Given the description of an element on the screen output the (x, y) to click on. 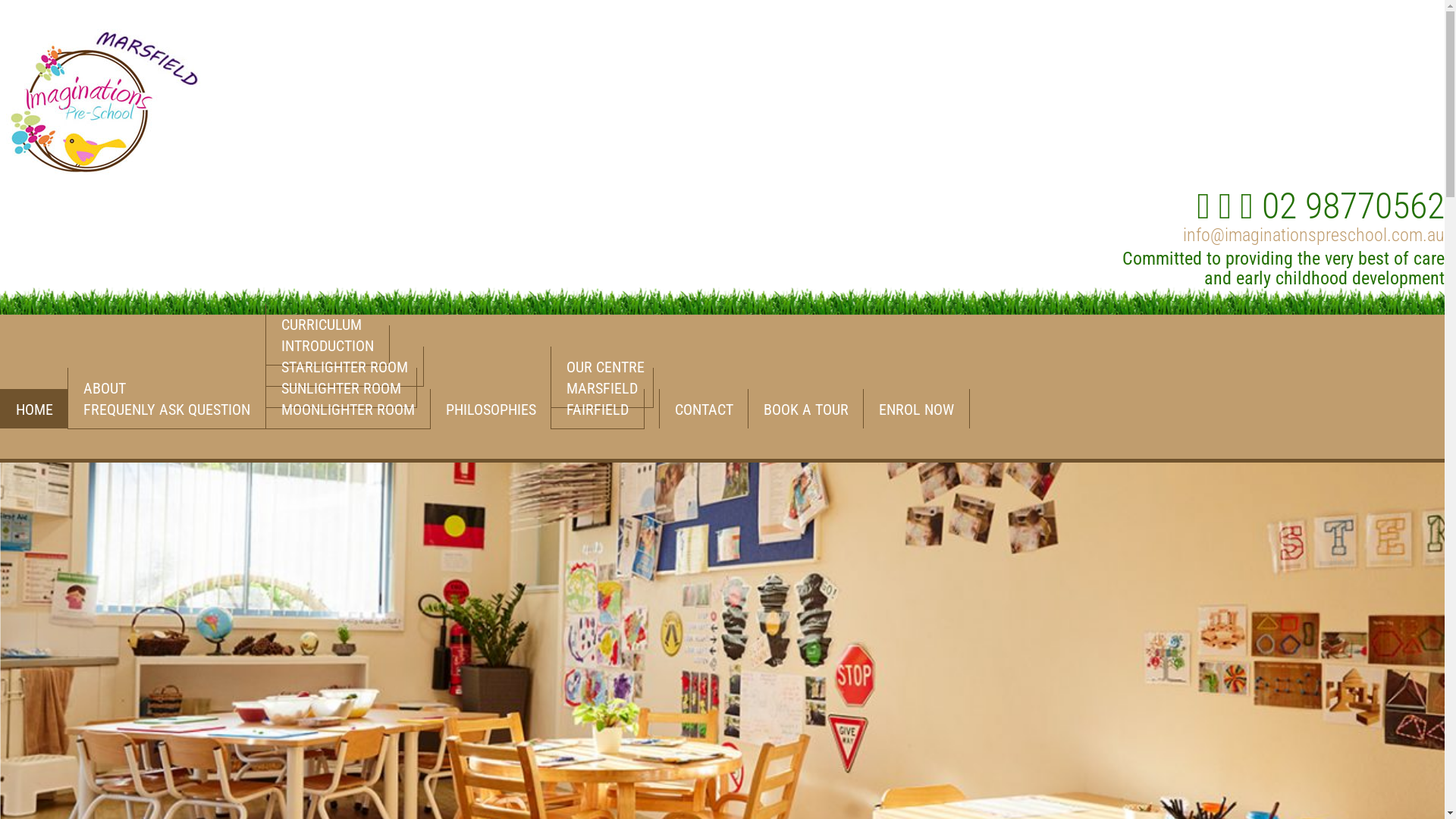
INTRODUCTION Element type: text (327, 345)
ABOUT Element type: text (104, 387)
OUR CENTRE Element type: text (604, 365)
PHILOSOPHIES Element type: text (490, 408)
info@imaginationspreschool.com.au Element type: text (1313, 234)
HOME Element type: text (34, 408)
SUNLIGHTER ROOM Element type: text (341, 387)
CURRICULUM Element type: text (320, 323)
FREQUENLY ASK QUESTION Element type: text (166, 409)
FAIRFIELD Element type: text (597, 409)
BOOK A TOUR Element type: text (805, 408)
STARLIGHTER ROOM Element type: text (344, 366)
MARSFIELD Element type: text (601, 387)
ENROL NOW Element type: text (915, 408)
02 98770562 Element type: text (1352, 205)
CONTACT Element type: text (703, 408)
MOONLIGHTER ROOM Element type: text (347, 409)
